Given the description of an element on the screen output the (x, y) to click on. 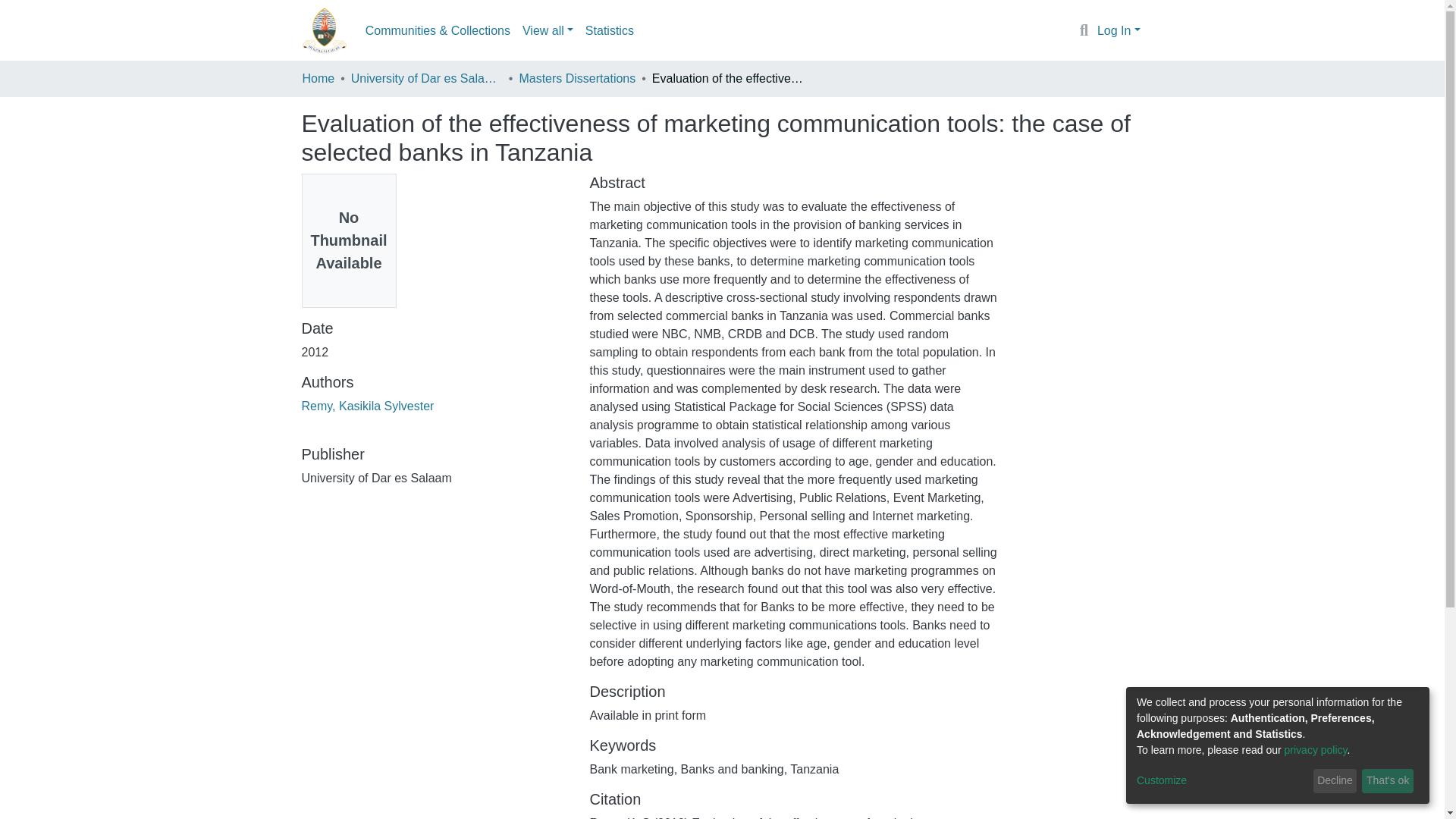
Home (317, 78)
Remy, Kasikila Sylvester (367, 405)
Statistics (609, 30)
Statistics (609, 30)
Decline (1334, 781)
Log In (1118, 30)
Masters Dissertations (576, 78)
View all (547, 30)
privacy policy (1316, 749)
University of Dar es Salaam Business School (426, 78)
Search (1084, 30)
Customize (1222, 780)
That's ok (1387, 781)
